Given the description of an element on the screen output the (x, y) to click on. 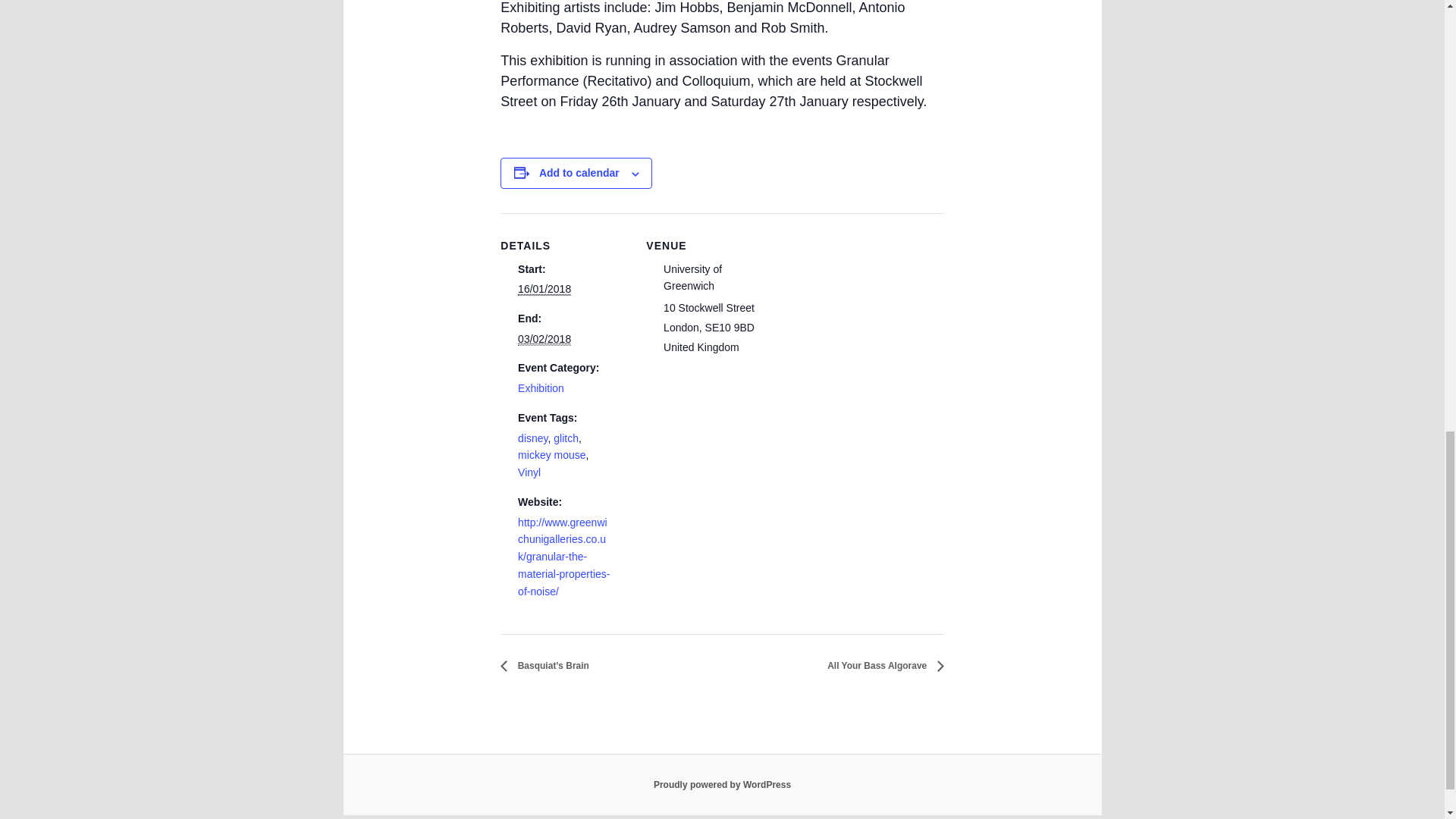
glitch (565, 438)
2018-02-03 (544, 338)
Add to calendar (579, 173)
2018-01-16 (544, 288)
All Your Bass Algorave (880, 665)
Exhibition (541, 387)
Vinyl (529, 472)
Proudly powered by WordPress (721, 784)
Semantic Personal Publishing Platform (721, 784)
mickey mouse (551, 454)
disney (532, 438)
